Given the description of an element on the screen output the (x, y) to click on. 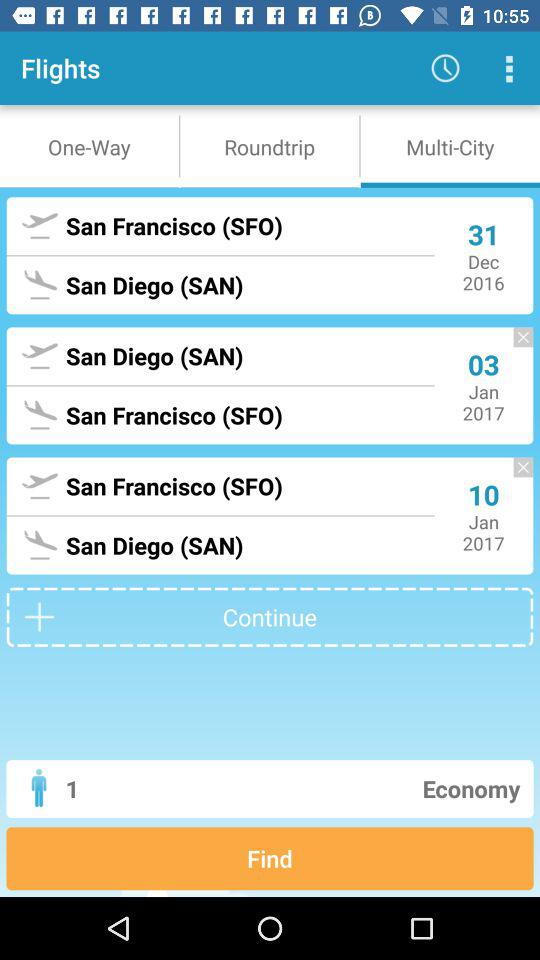
click icon above multi-city (508, 67)
